Given the description of an element on the screen output the (x, y) to click on. 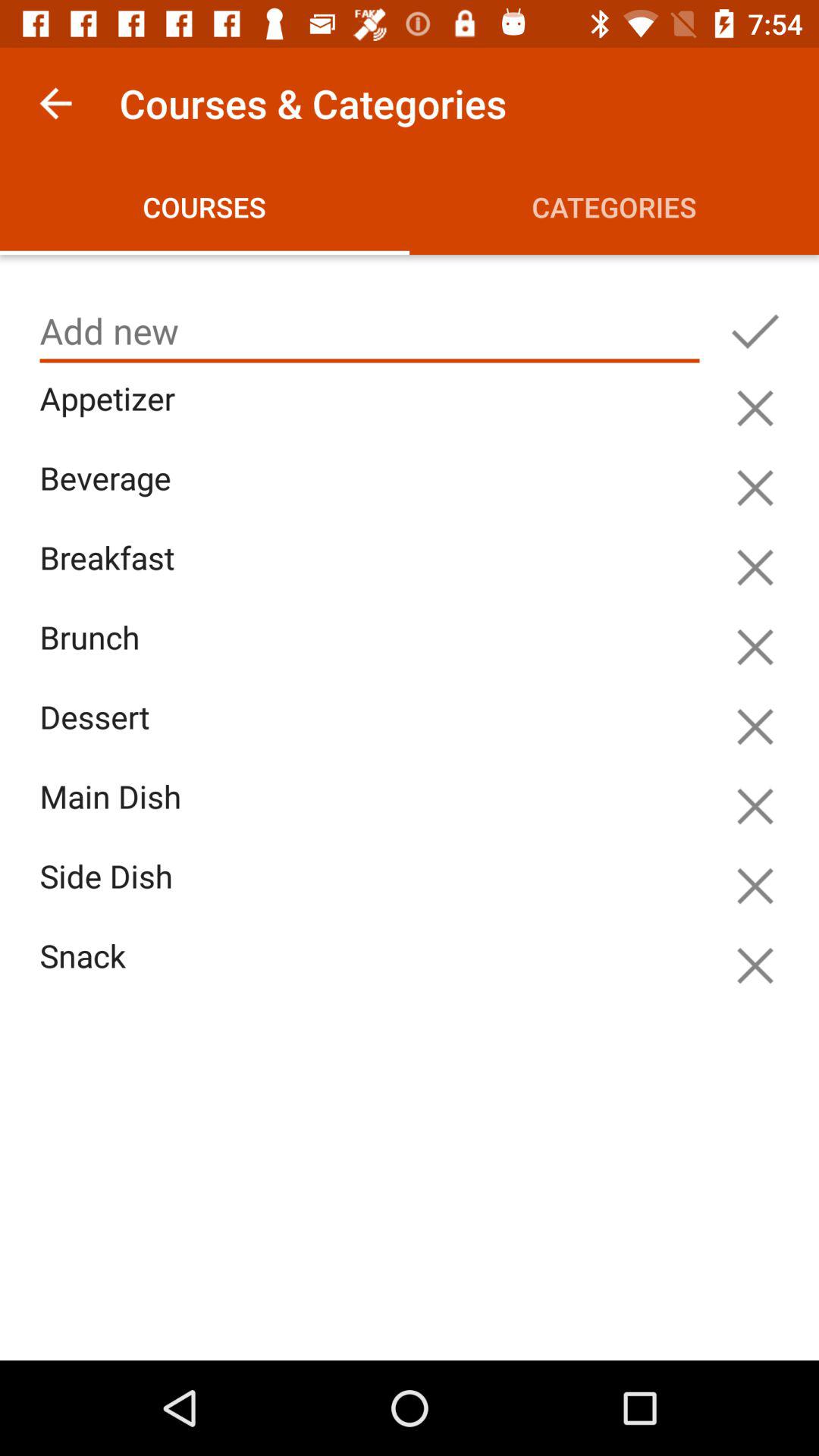
deletes the word (755, 647)
